Given the description of an element on the screen output the (x, y) to click on. 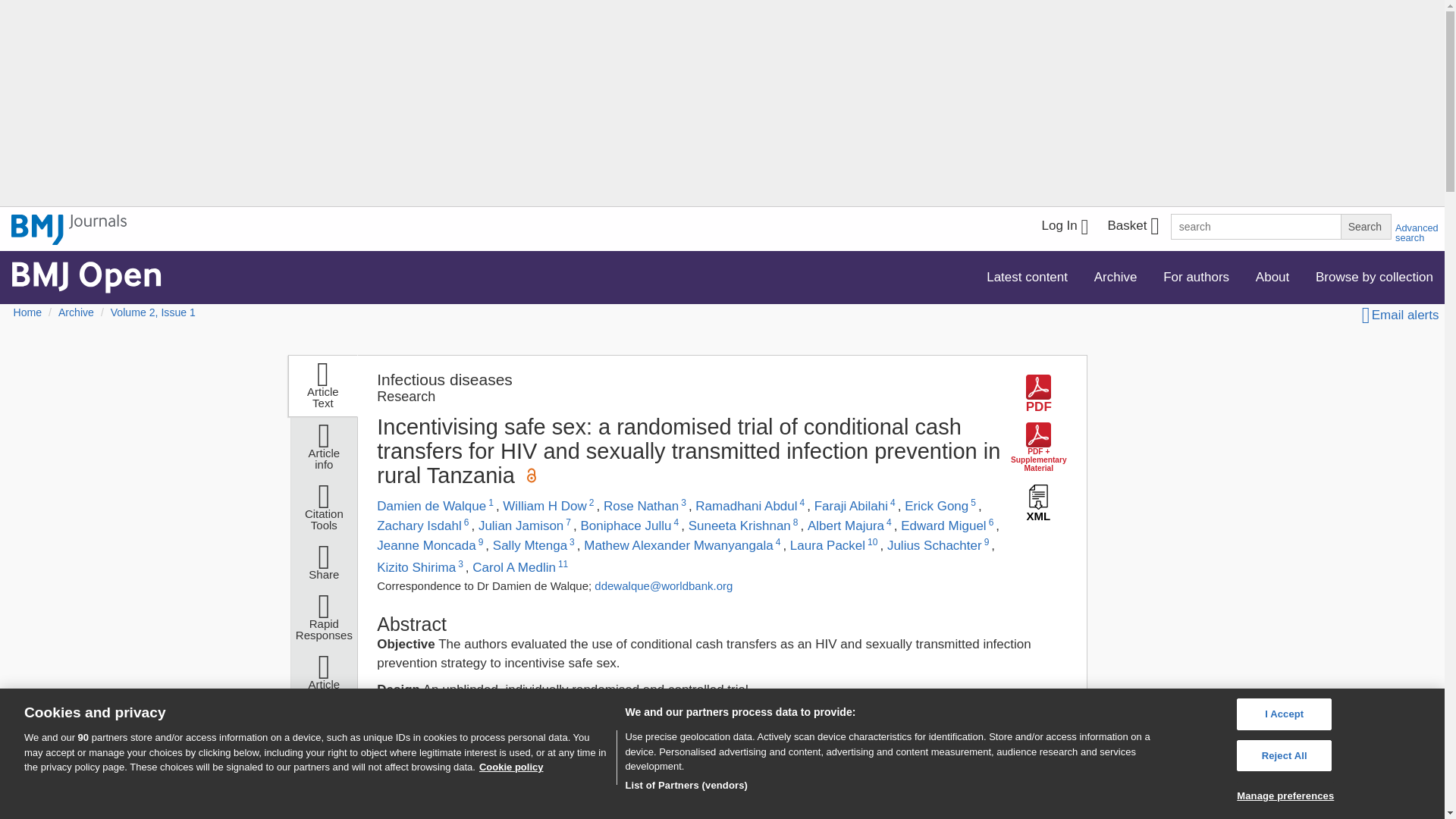
Advanced search (1416, 232)
Search (1364, 226)
Log In (1064, 228)
Basket (1132, 228)
Latest content (1026, 276)
About (1272, 276)
BMJ Journals (68, 229)
For authors (1195, 276)
